Given the description of an element on the screen output the (x, y) to click on. 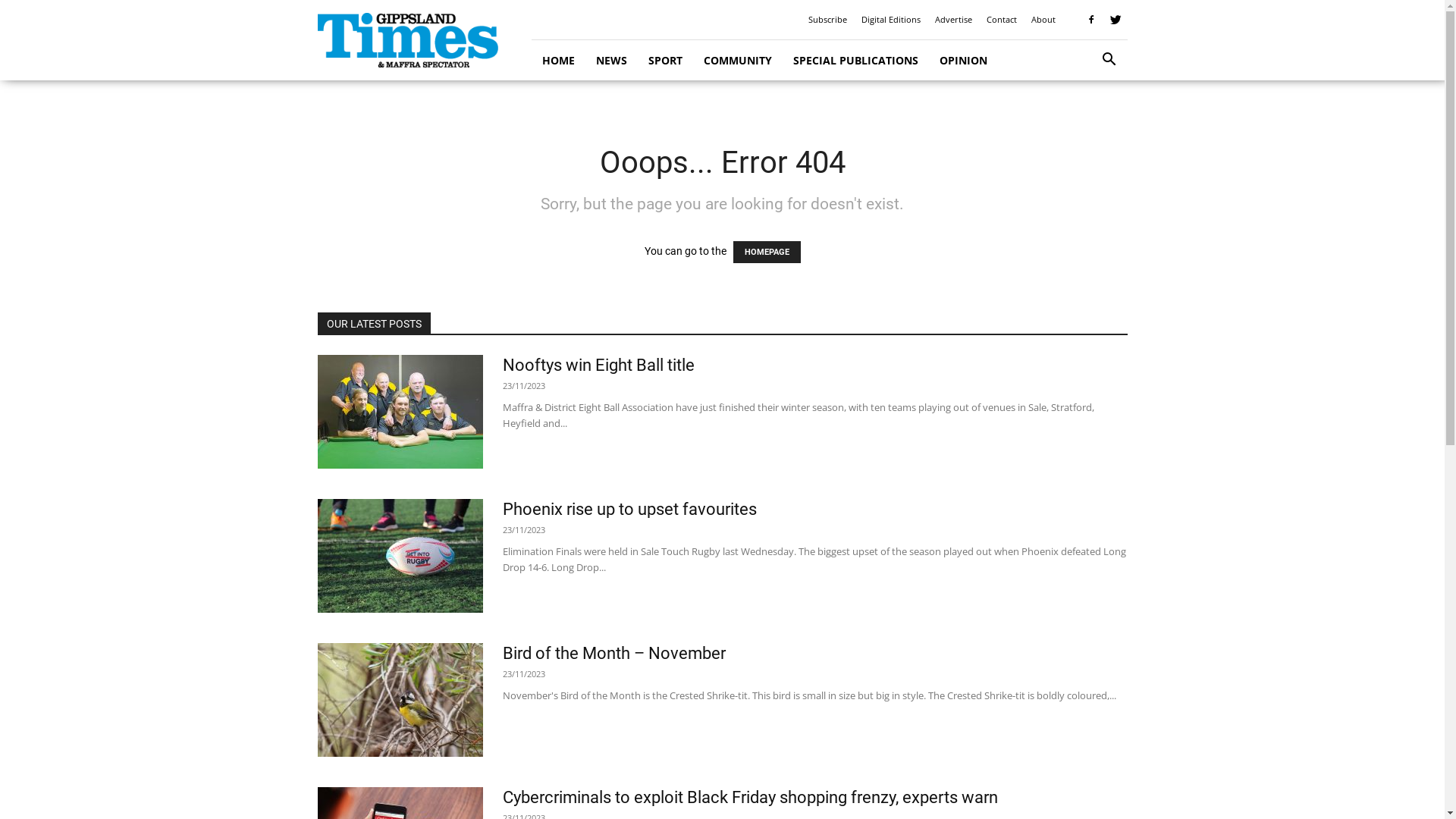
Facebook Element type: hover (1090, 19)
HOMEPAGE Element type: text (766, 252)
SPECIAL PUBLICATIONS Element type: text (855, 60)
NEWS Element type: text (611, 60)
HOME Element type: text (557, 60)
Advertise Element type: text (952, 19)
Subscribe Element type: text (827, 19)
COMMUNITY Element type: text (737, 60)
Phoenix rise up to upset favourites Element type: text (629, 508)
Contact Element type: text (1000, 19)
Nooftys win Eight Ball title Element type: hover (399, 411)
Twitter Element type: hover (1115, 19)
Digital Editions Element type: text (890, 19)
SPORT Element type: text (664, 60)
About Element type: text (1043, 19)
OPINION Element type: text (962, 60)
Phoenix rise up to upset favourites Element type: hover (399, 555)
Nooftys win Eight Ball title Element type: text (597, 364)
Search Element type: text (1085, 122)
